Given the description of an element on the screen output the (x, y) to click on. 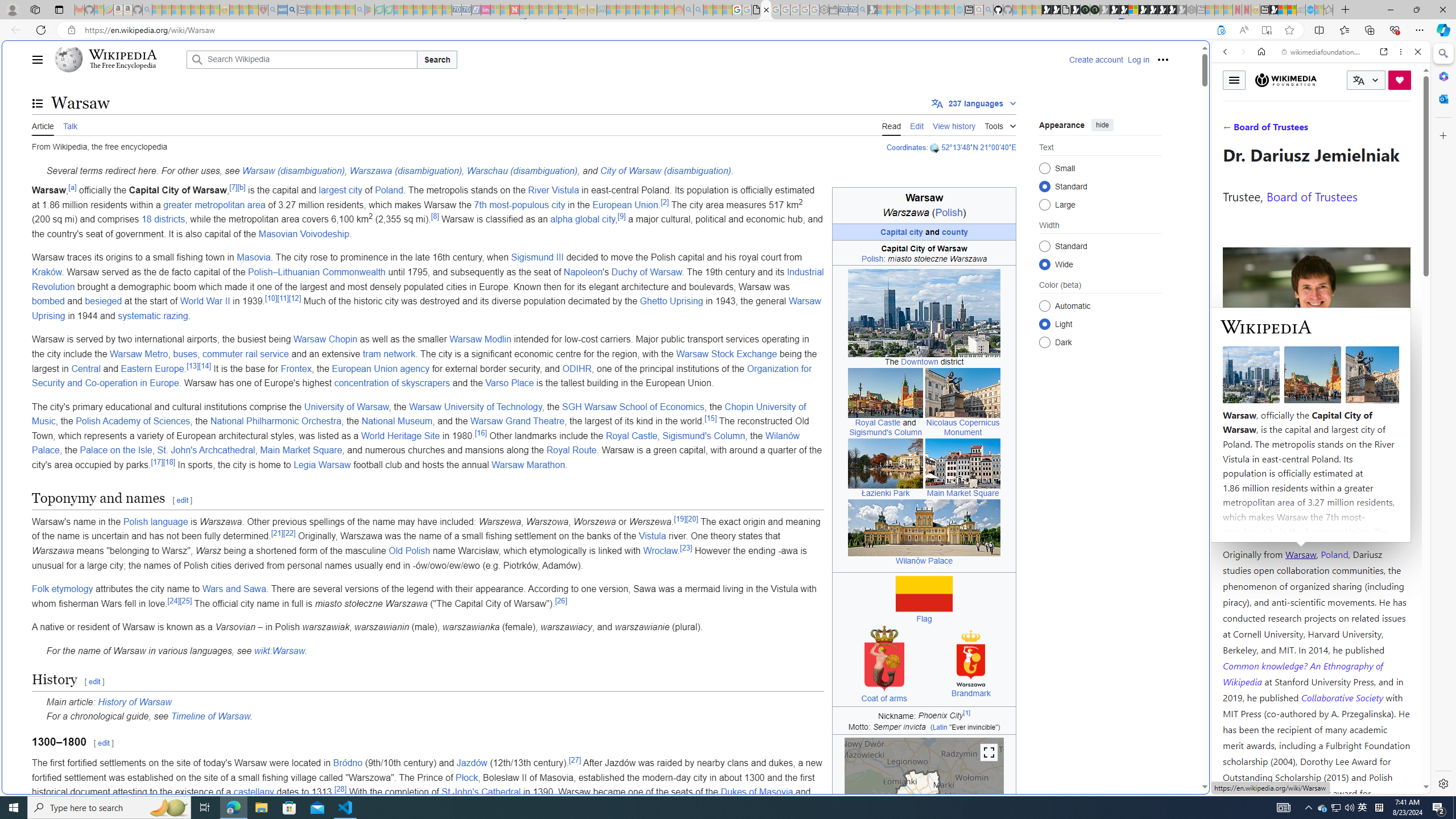
Coat of arms (883, 697)
Warsaw Marathon (528, 465)
edit (103, 742)
Warsaw Metro (138, 353)
Napoleon (582, 271)
Warsaw - Wikipedia (766, 9)
Eastern Europe (152, 368)
National Philharmonic Orchestra (275, 421)
Wide (1044, 263)
